Given the description of an element on the screen output the (x, y) to click on. 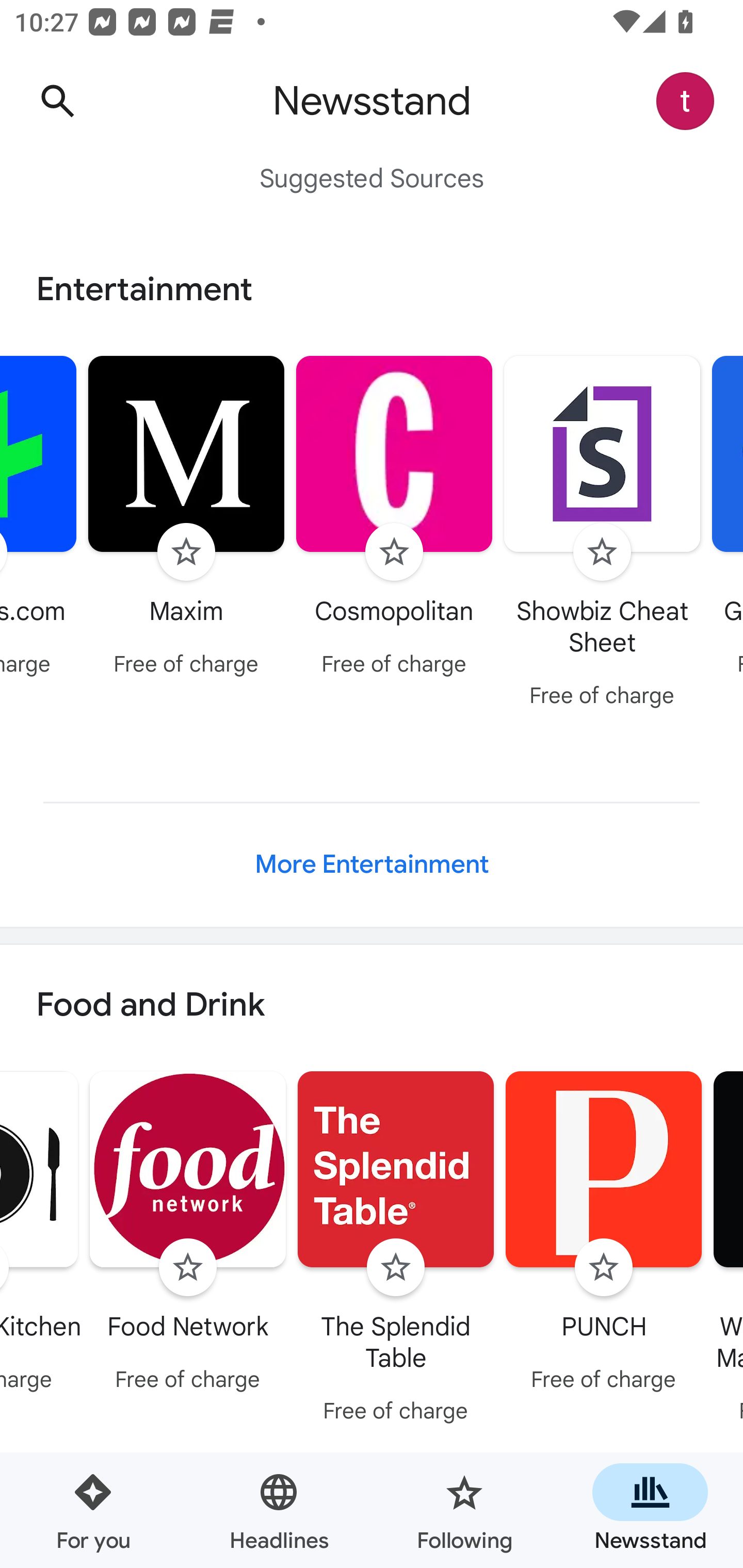
Search (57, 100)
Entertainment (371, 288)
Follow Maxim Free of charge (186, 517)
Follow Cosmopolitan Free of charge (394, 517)
Follow Showbiz Cheat Sheet Free of charge (602, 534)
Follow (186, 551)
Follow (393, 551)
Follow (601, 551)
More Entertainment (371, 864)
Food and Drink (371, 1005)
Follow Food Network Free of charge (187, 1234)
Follow The Splendid Table Free of charge (395, 1250)
Follow PUNCH Free of charge (604, 1234)
Follow (187, 1267)
Follow (395, 1267)
Follow (603, 1267)
For you (92, 1509)
Headlines (278, 1509)
Following (464, 1509)
Newsstand (650, 1509)
